Given the description of an element on the screen output the (x, y) to click on. 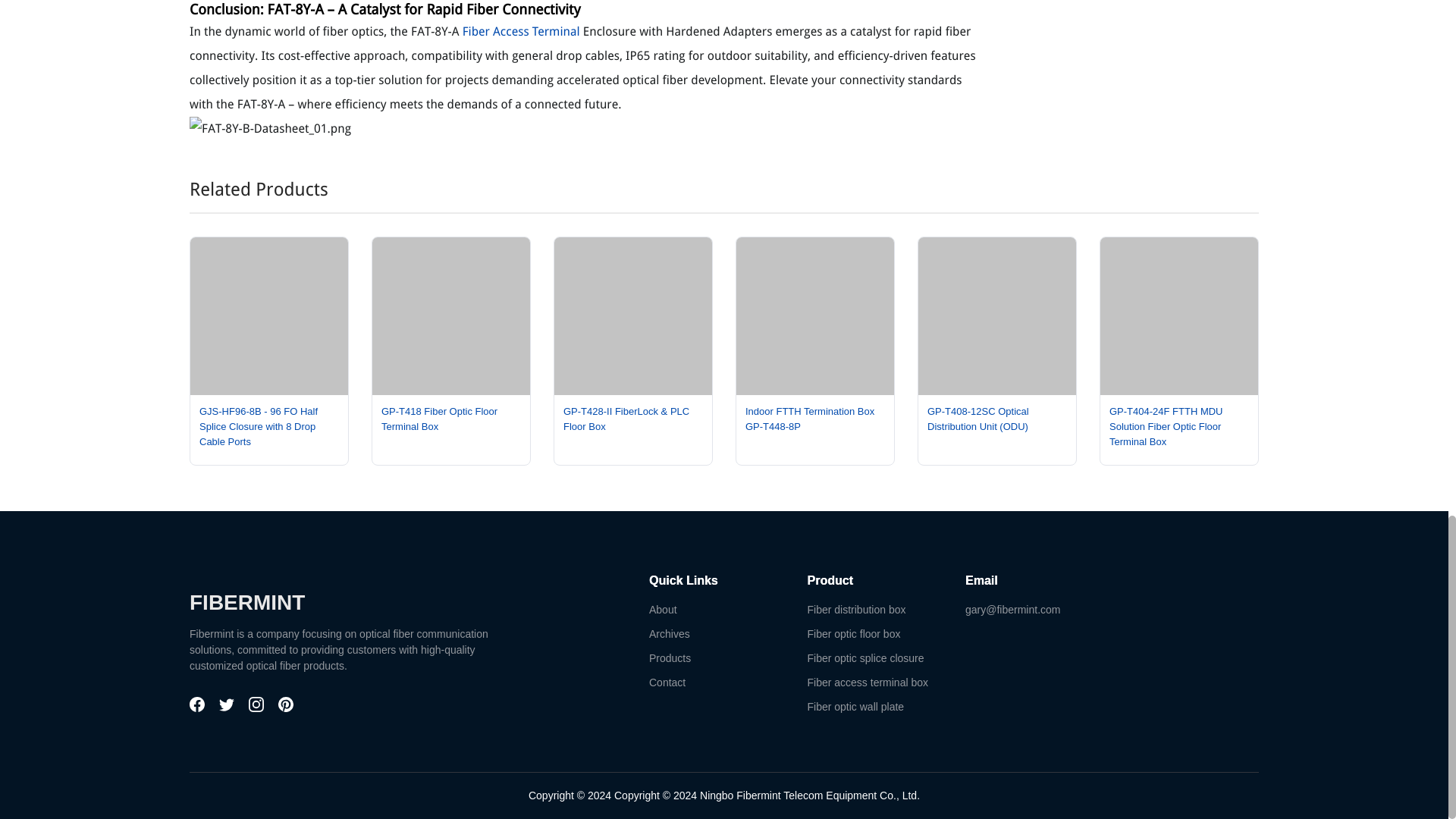
Pinterest (286, 707)
Facebook (198, 707)
Instagram (257, 707)
Twitter (228, 707)
